Given the description of an element on the screen output the (x, y) to click on. 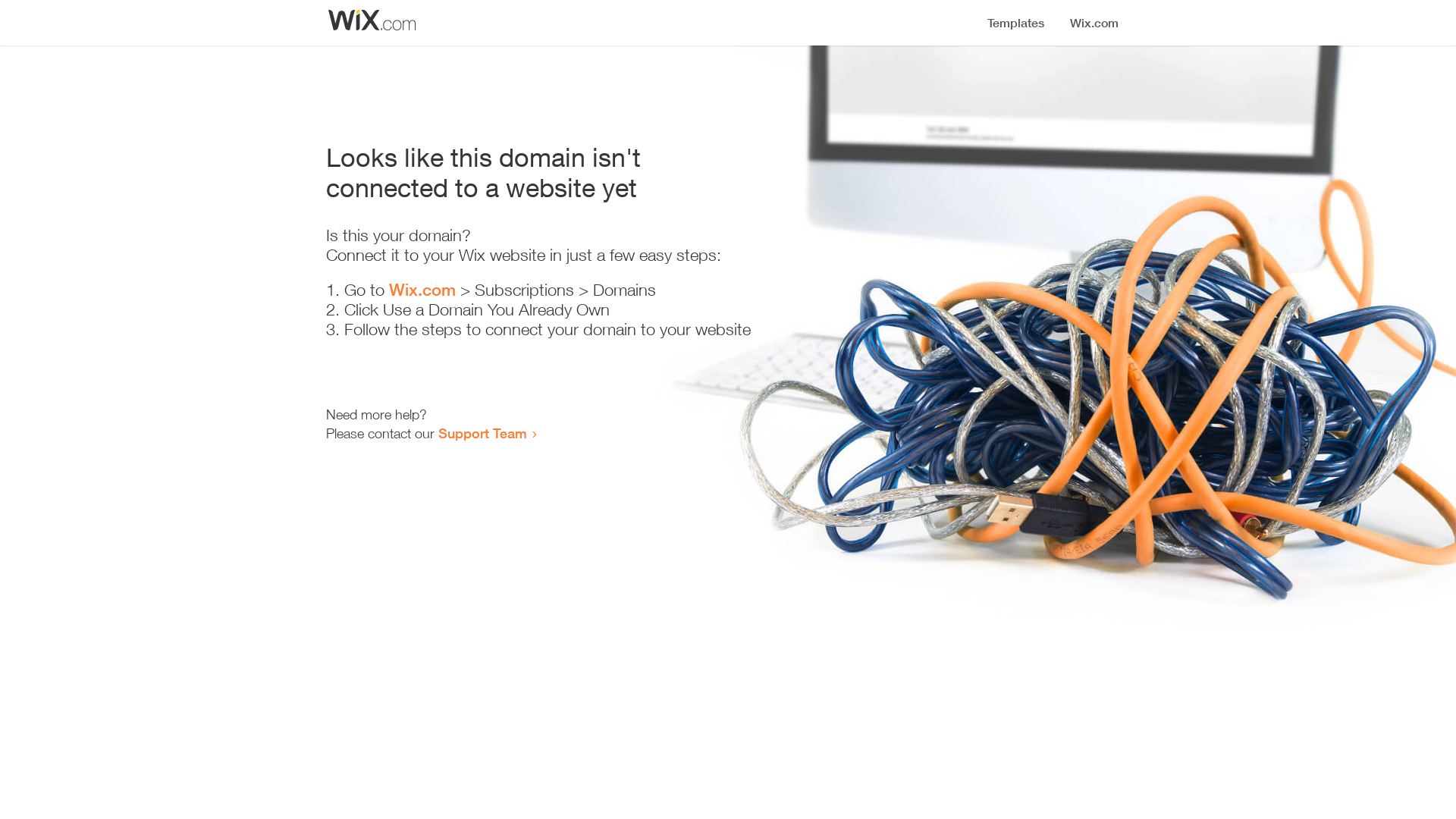
Wix.com Element type: text (422, 289)
Support Team Element type: text (482, 432)
